Given the description of an element on the screen output the (x, y) to click on. 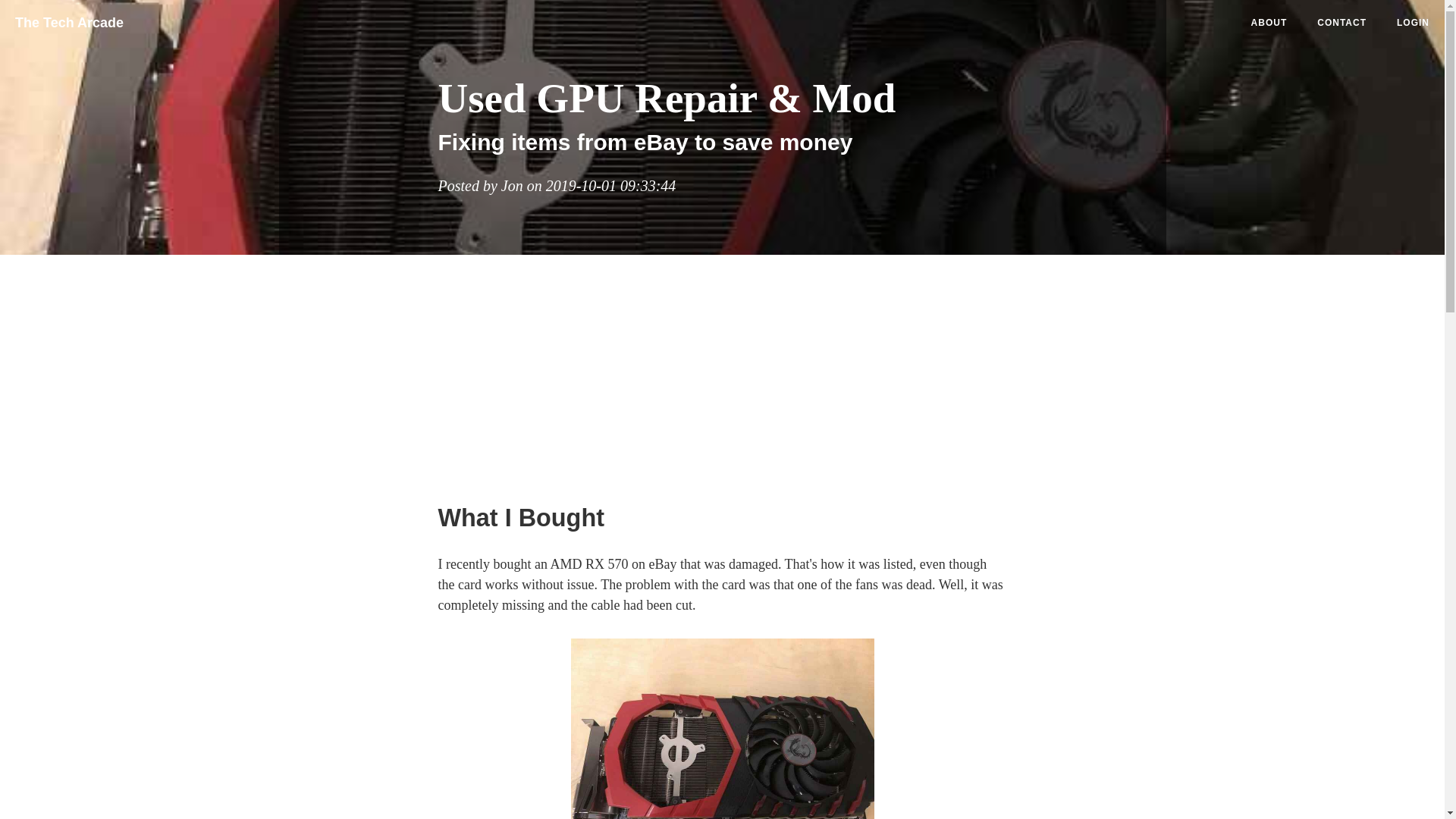
CONTACT (1341, 22)
The Tech Arcade (69, 18)
The Tech Arcade (74, 18)
ABOUT (1269, 22)
Jon (511, 185)
